Given the description of an element on the screen output the (x, y) to click on. 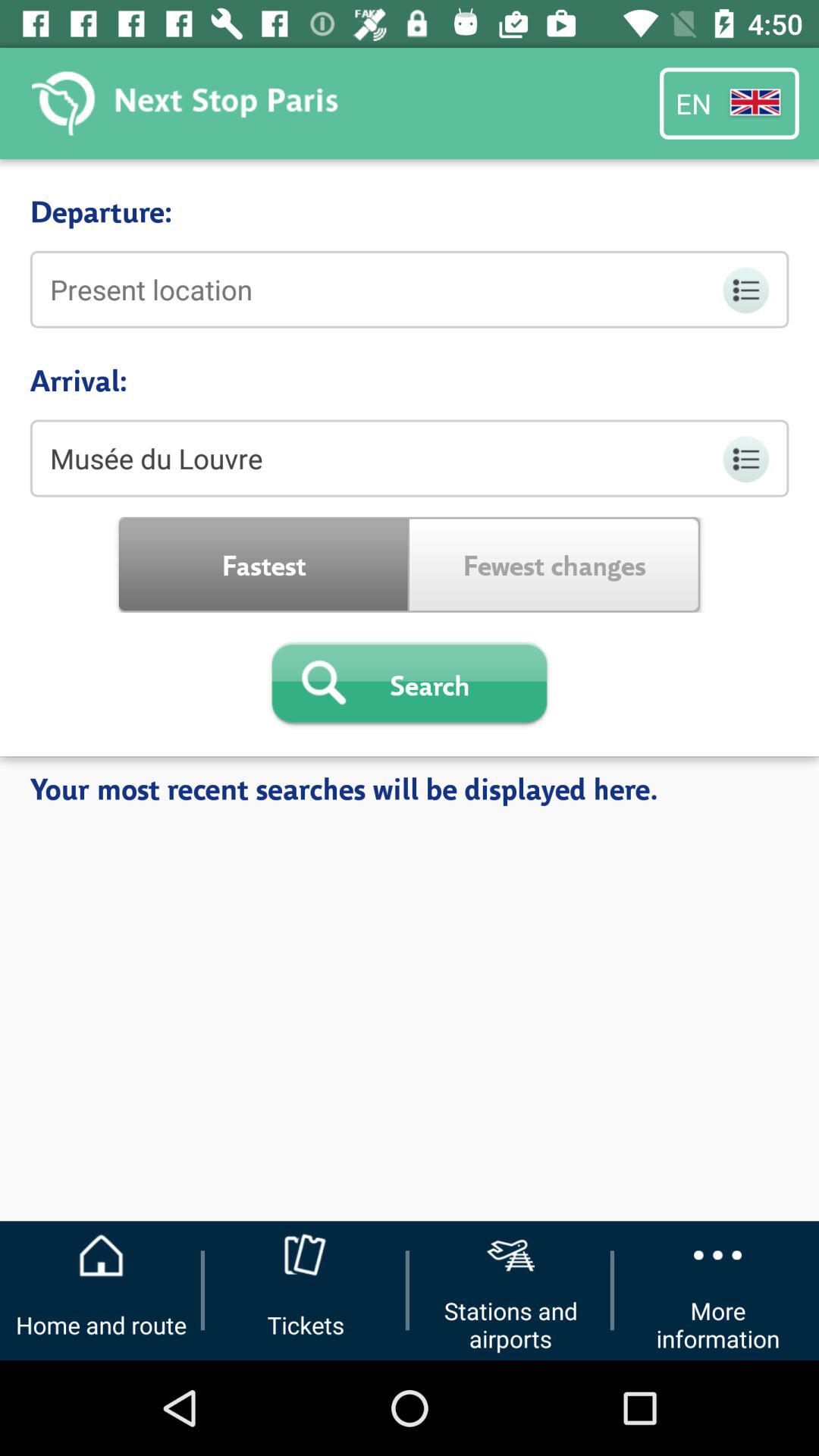
tap the icon to the right of the fastest icon (554, 564)
